Given the description of an element on the screen output the (x, y) to click on. 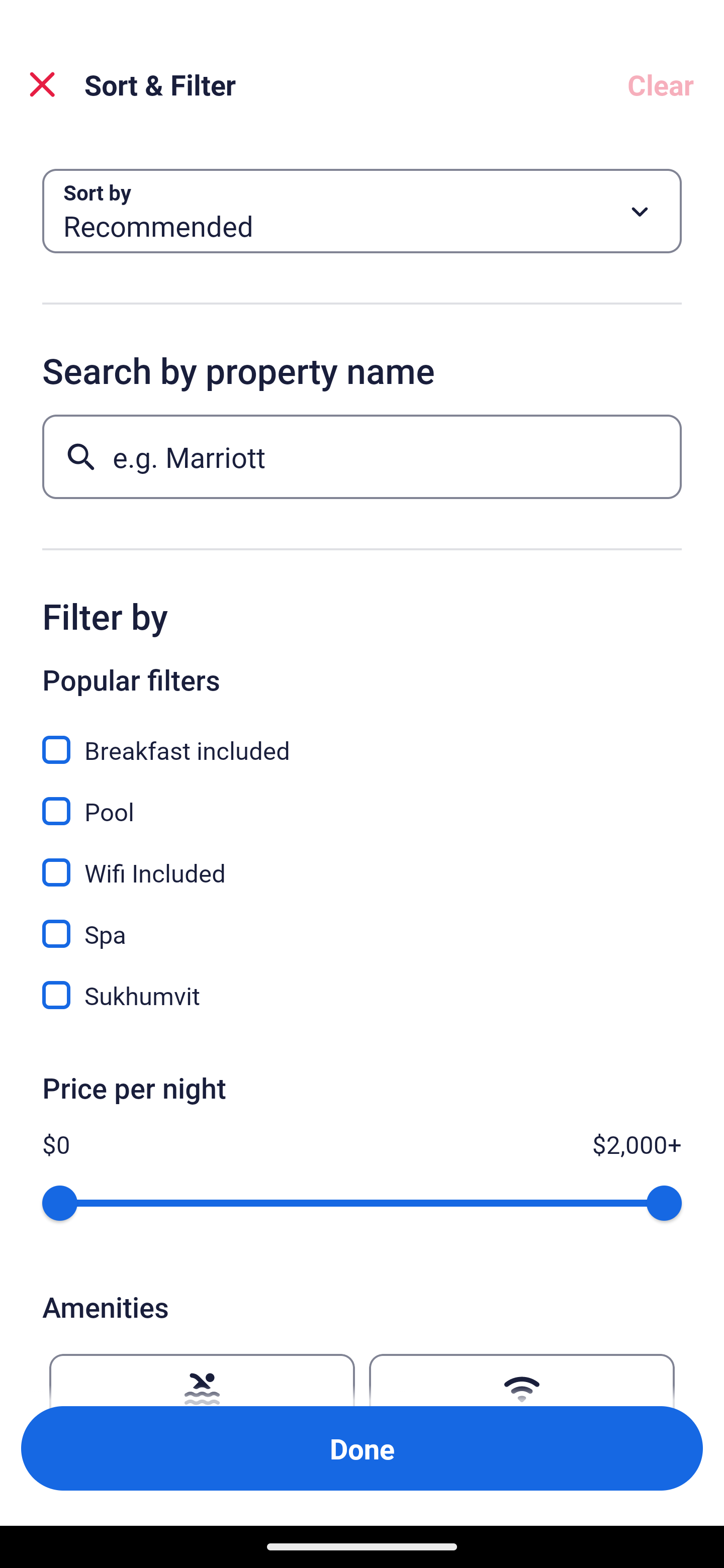
Close Sort and Filter (42, 84)
Clear (660, 84)
Sort by Button Recommended (361, 211)
e.g. Marriott Button (361, 455)
Breakfast included, Breakfast included (361, 738)
Pool, Pool (361, 800)
Wifi Included, Wifi Included (361, 861)
Spa, Spa (361, 922)
Sukhumvit, Sukhumvit (361, 995)
Apply and close Sort and Filter Done (361, 1448)
